Given the description of an element on the screen output the (x, y) to click on. 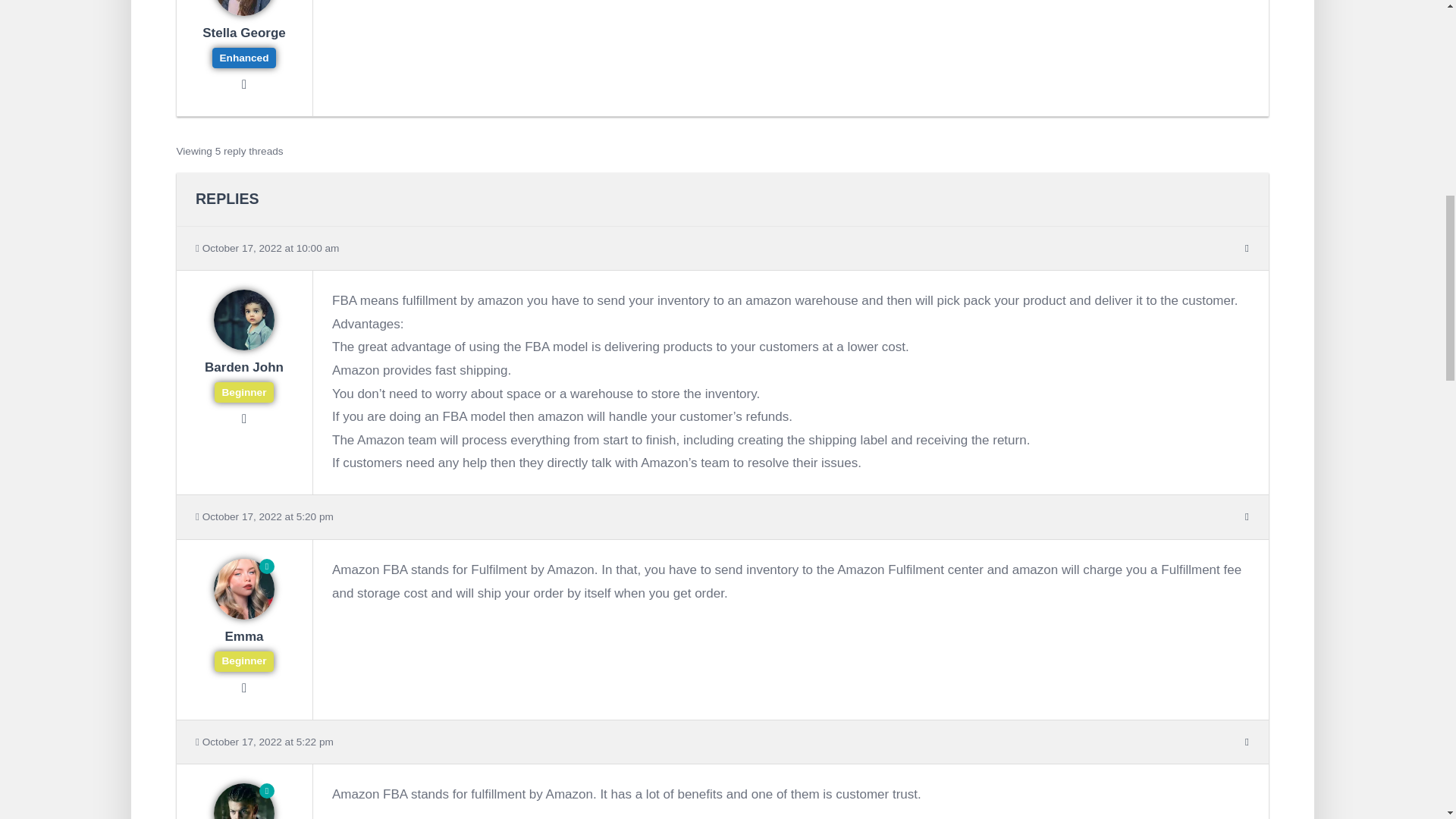
Barden John (243, 377)
Stella George (243, 43)
View Stella George's profile (243, 43)
View Stella George's profile (244, 11)
View Barden John's profile (244, 345)
View Emma's profile (243, 647)
View Barden John's profile (243, 377)
View Emma's profile (244, 614)
Verified User (243, 592)
Verified User (243, 11)
Emma (243, 647)
